Given the description of an element on the screen output the (x, y) to click on. 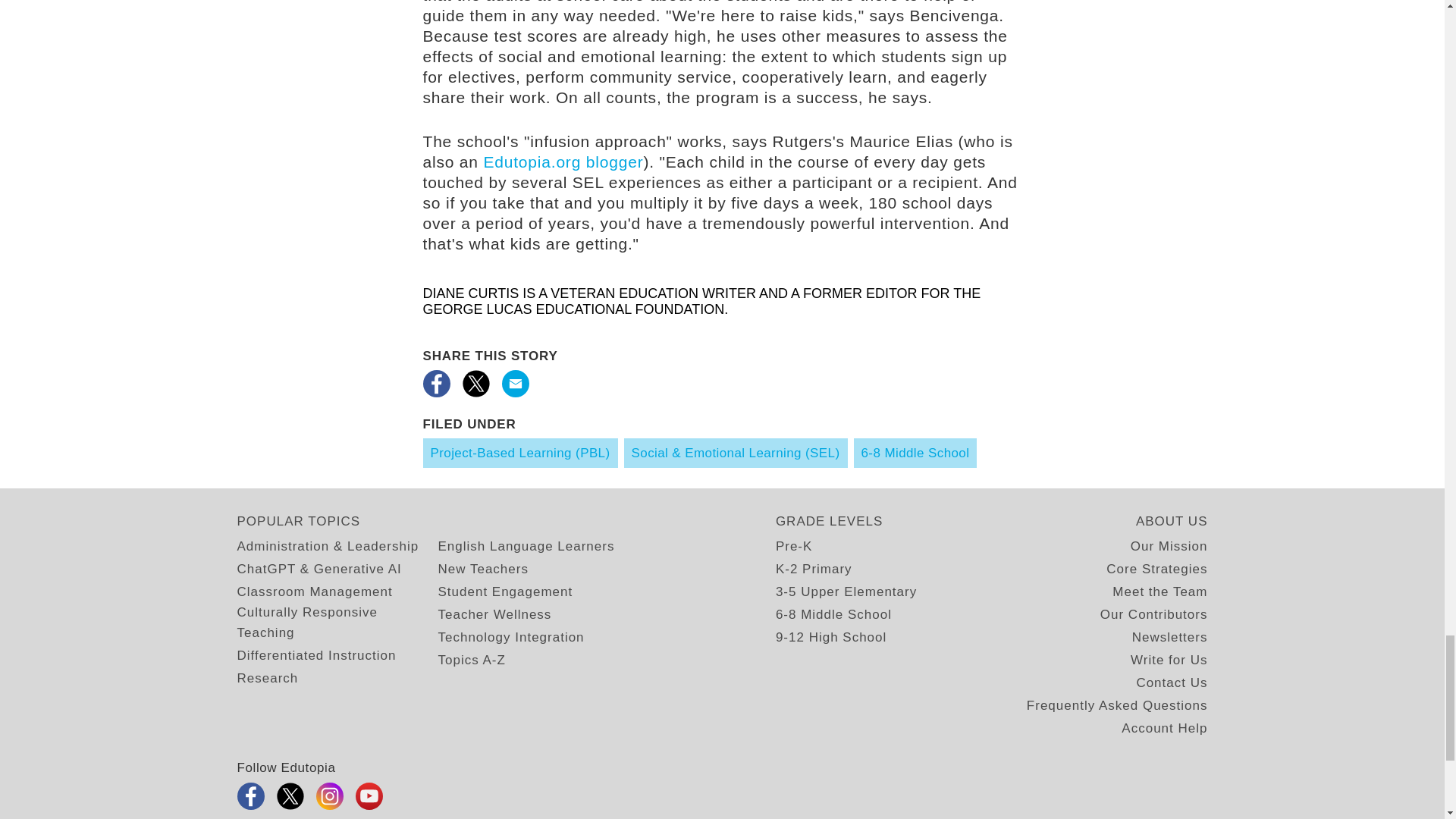
Pre-K (794, 546)
6-8 Middle School (914, 452)
Classroom Management (313, 591)
New Teachers (483, 568)
Student Engagement (505, 591)
Research (266, 678)
Teacher Wellness (494, 614)
English Language Learners (526, 546)
Edutopia.org blogger (563, 161)
Topics A-Z (471, 660)
